Given the description of an element on the screen output the (x, y) to click on. 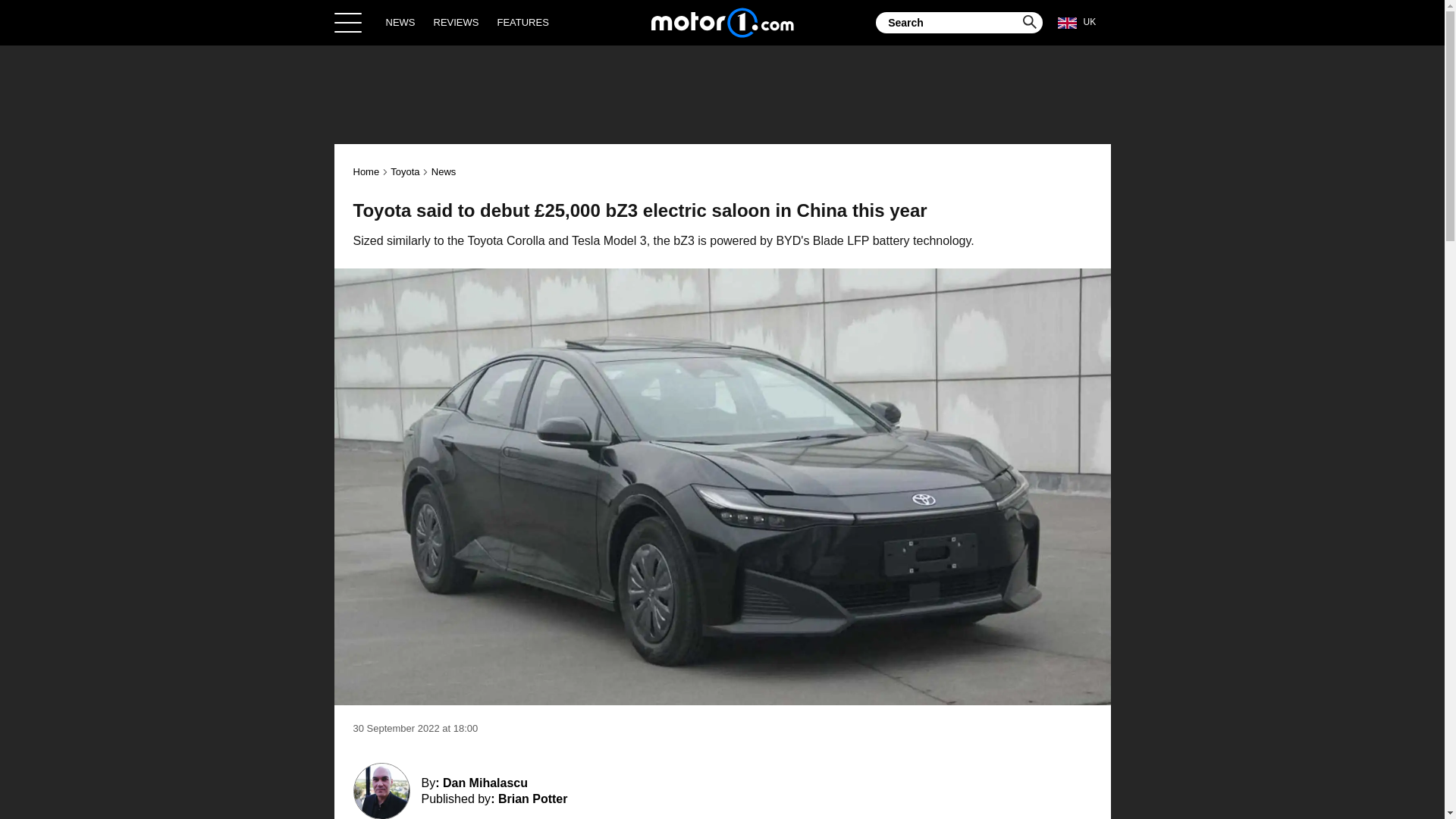
REVIEWS (456, 22)
Brian Potter (532, 798)
Home (721, 22)
Home (366, 171)
FEATURES (522, 22)
Toyota (404, 171)
News (443, 171)
NEWS (399, 22)
